Given the description of an element on the screen output the (x, y) to click on. 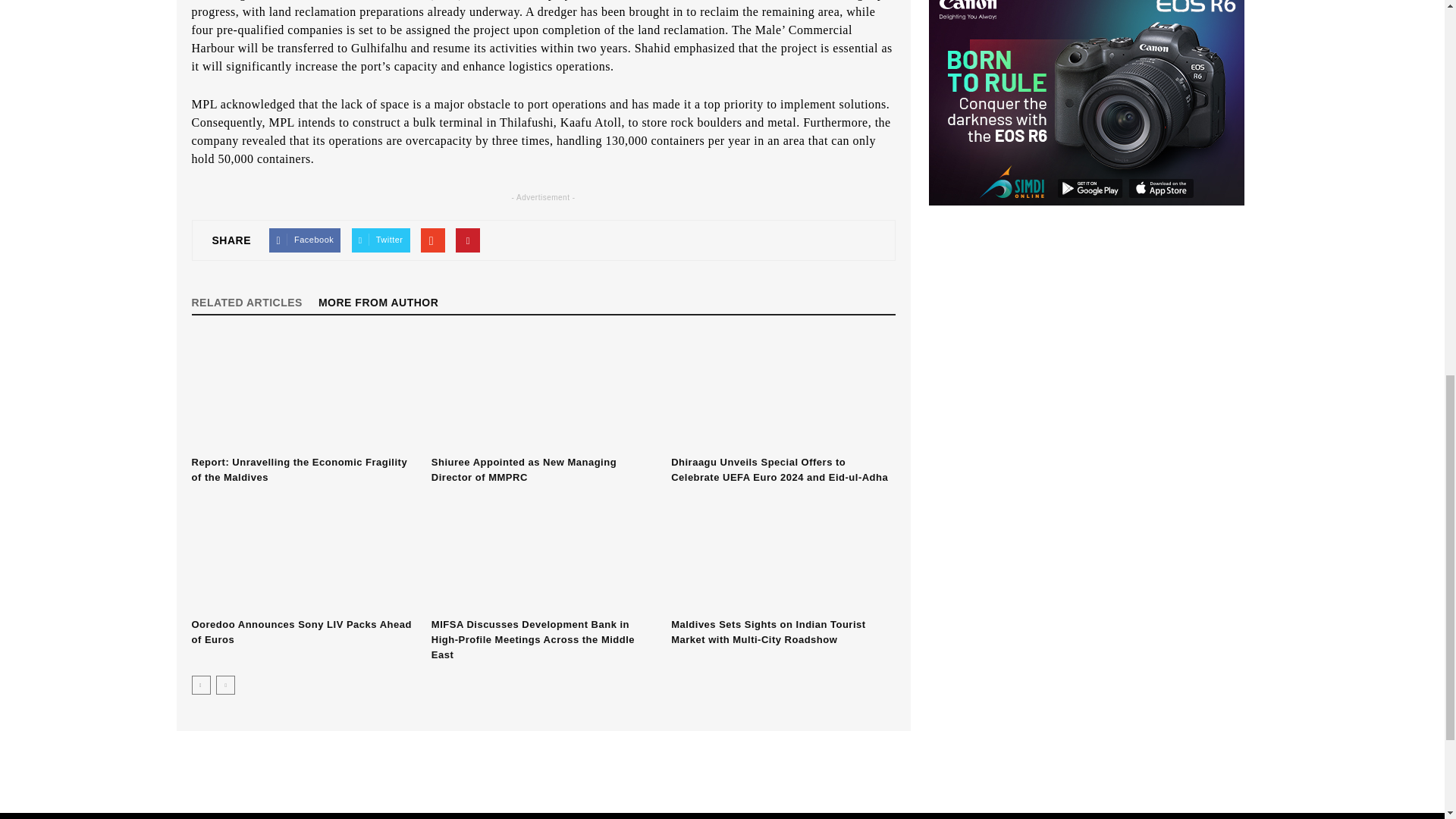
Report: Unravelling the Economic Fragility of the Maldives (302, 392)
Report: Unravelling the Economic Fragility of the Maldives (298, 469)
Shiuree Appointed as New Managing Director of MMPRC (522, 469)
Ooredoo Announces Sony LIV Packs Ahead of Euros (302, 554)
Ooredoo Announces Sony LIV Packs Ahead of Euros (300, 632)
Shiuree Appointed as New Managing Director of MMPRC (542, 392)
Facebook (304, 240)
Twitter (381, 240)
